Given the description of an element on the screen output the (x, y) to click on. 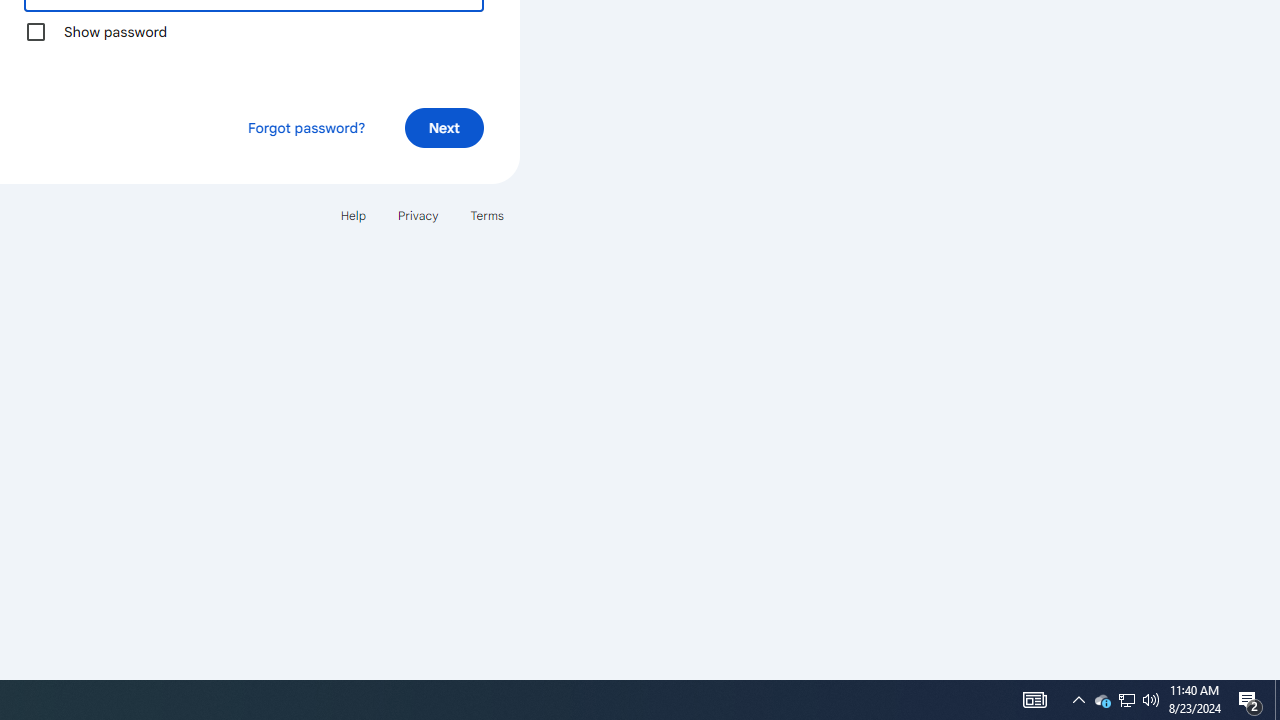
Forgot password? (305, 127)
Show password (35, 31)
